Given the description of an element on the screen output the (x, y) to click on. 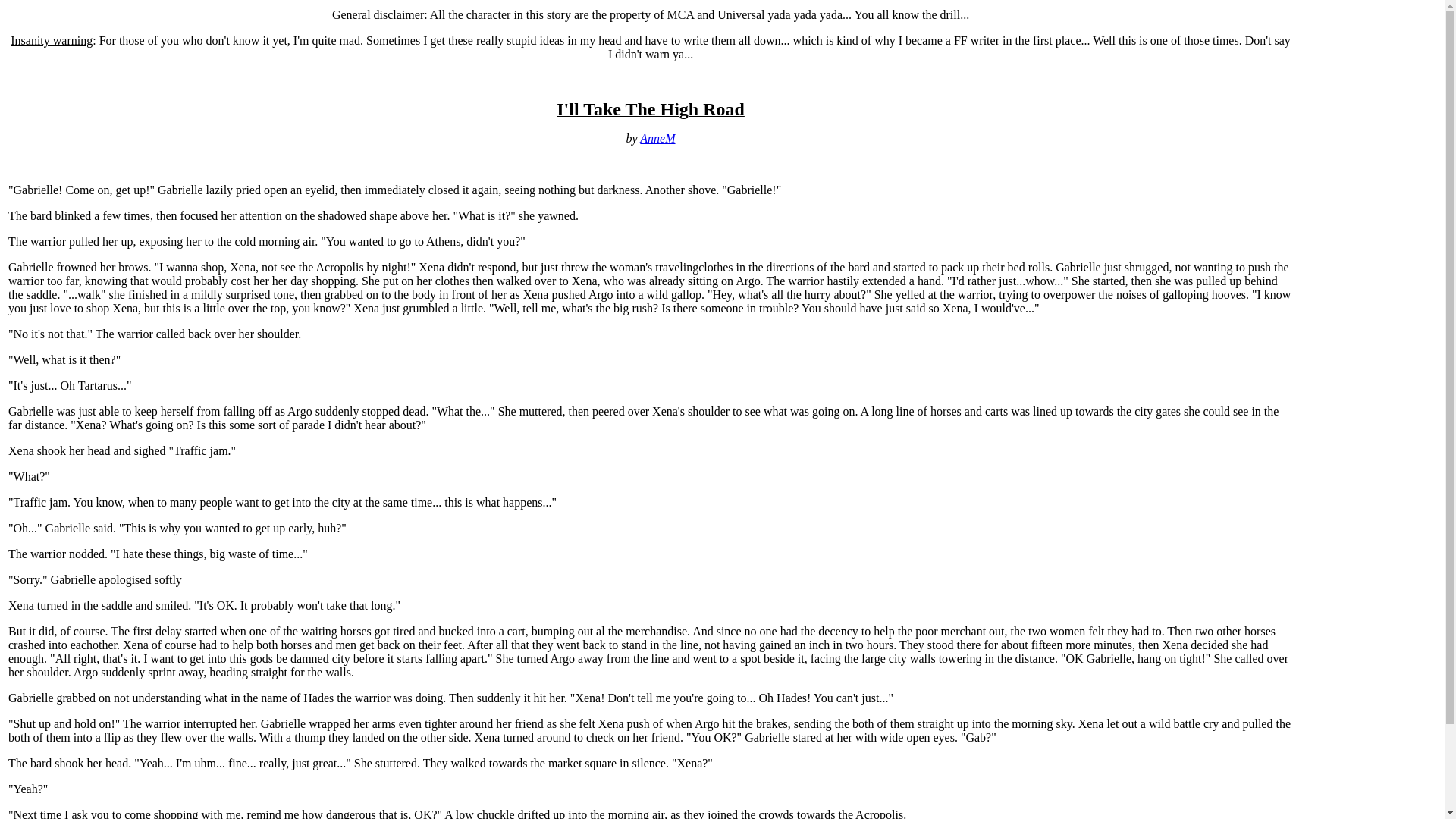
AnneM (657, 137)
